Given the description of an element on the screen output the (x, y) to click on. 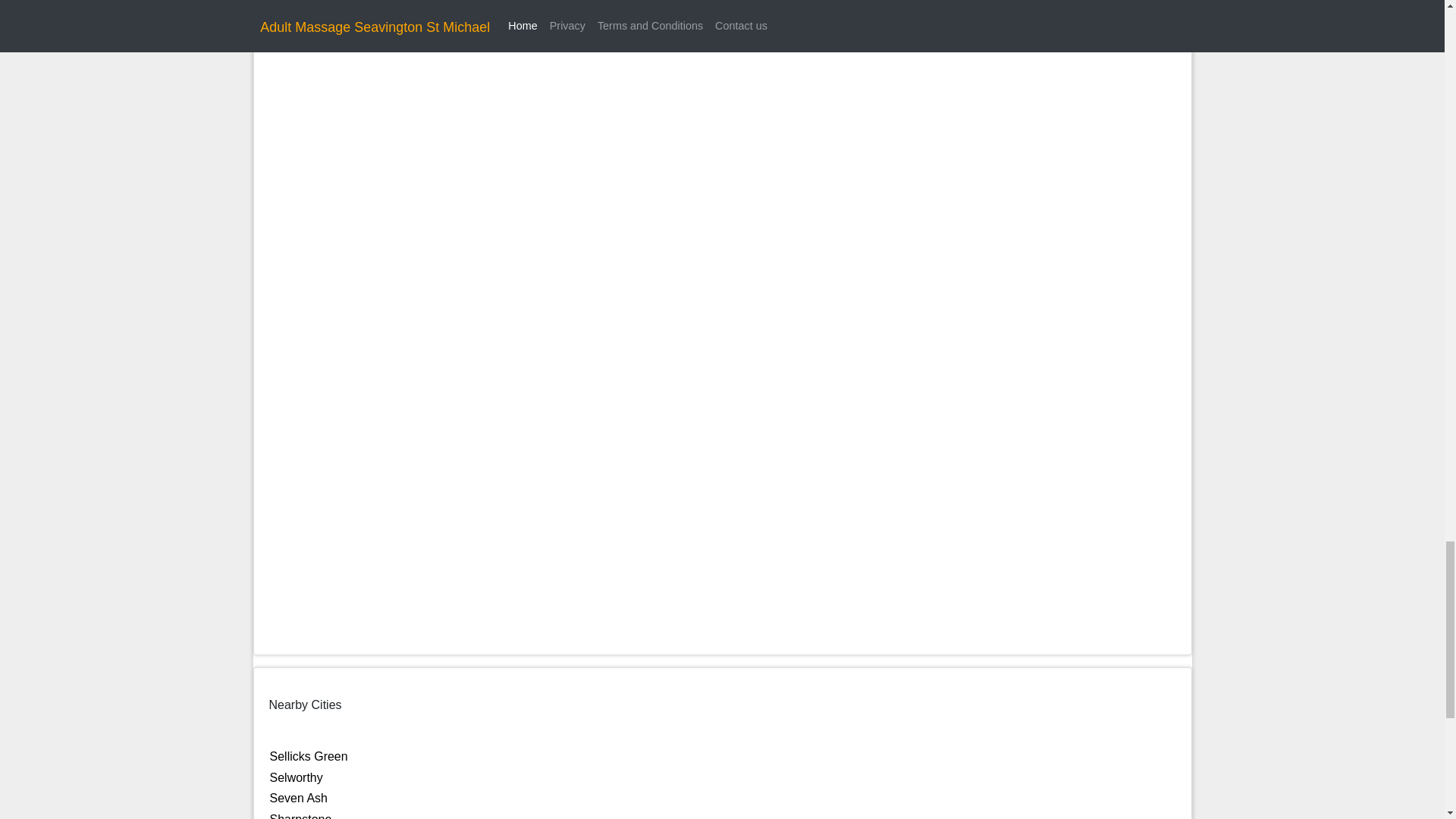
Sharpstone (300, 816)
Sellicks Green (308, 756)
Seven Ash (299, 797)
Selworthy (296, 777)
